Given the description of an element on the screen output the (x, y) to click on. 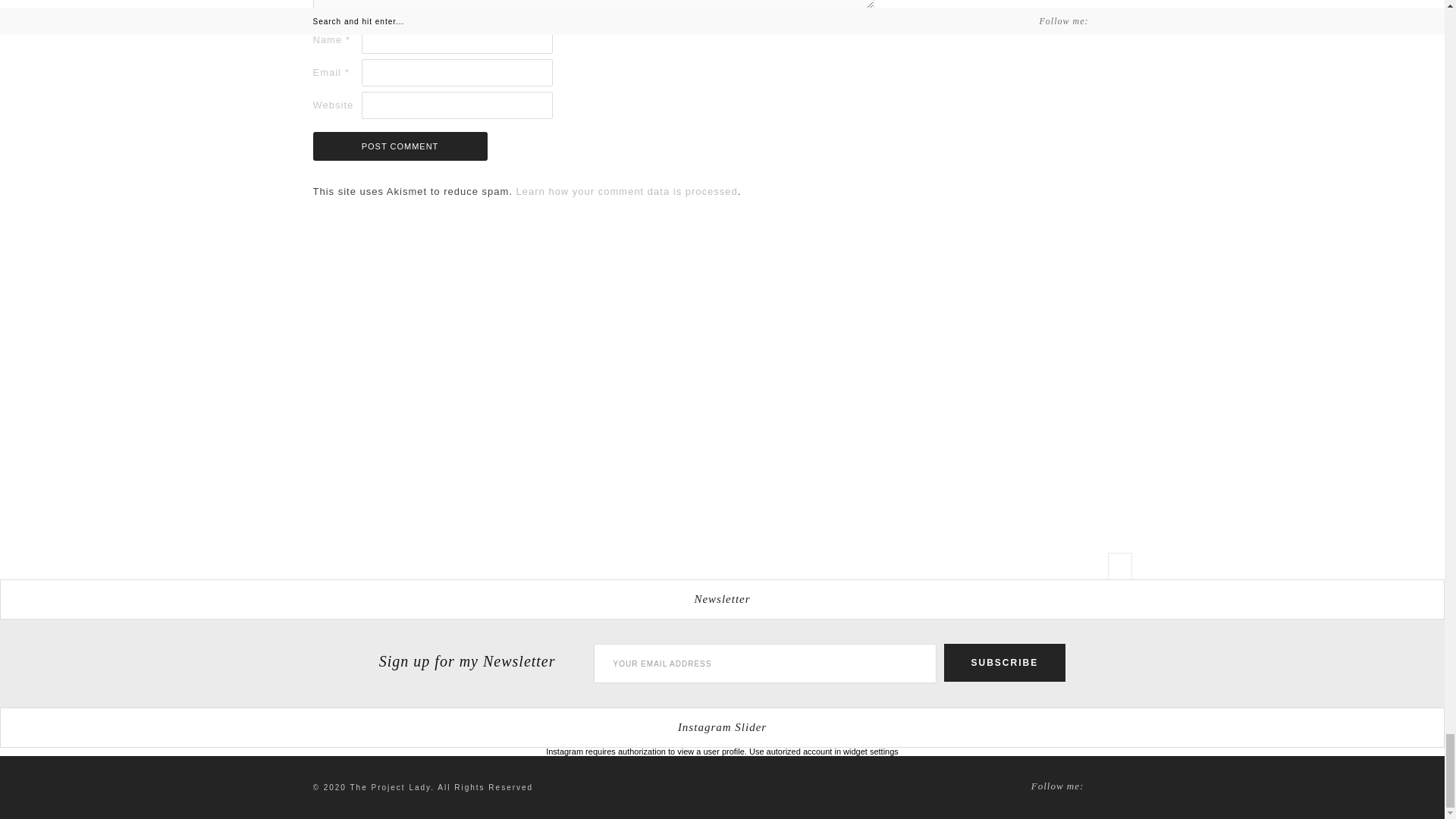
Post Comment (399, 145)
Subscribe (1004, 662)
